Given the description of an element on the screen output the (x, y) to click on. 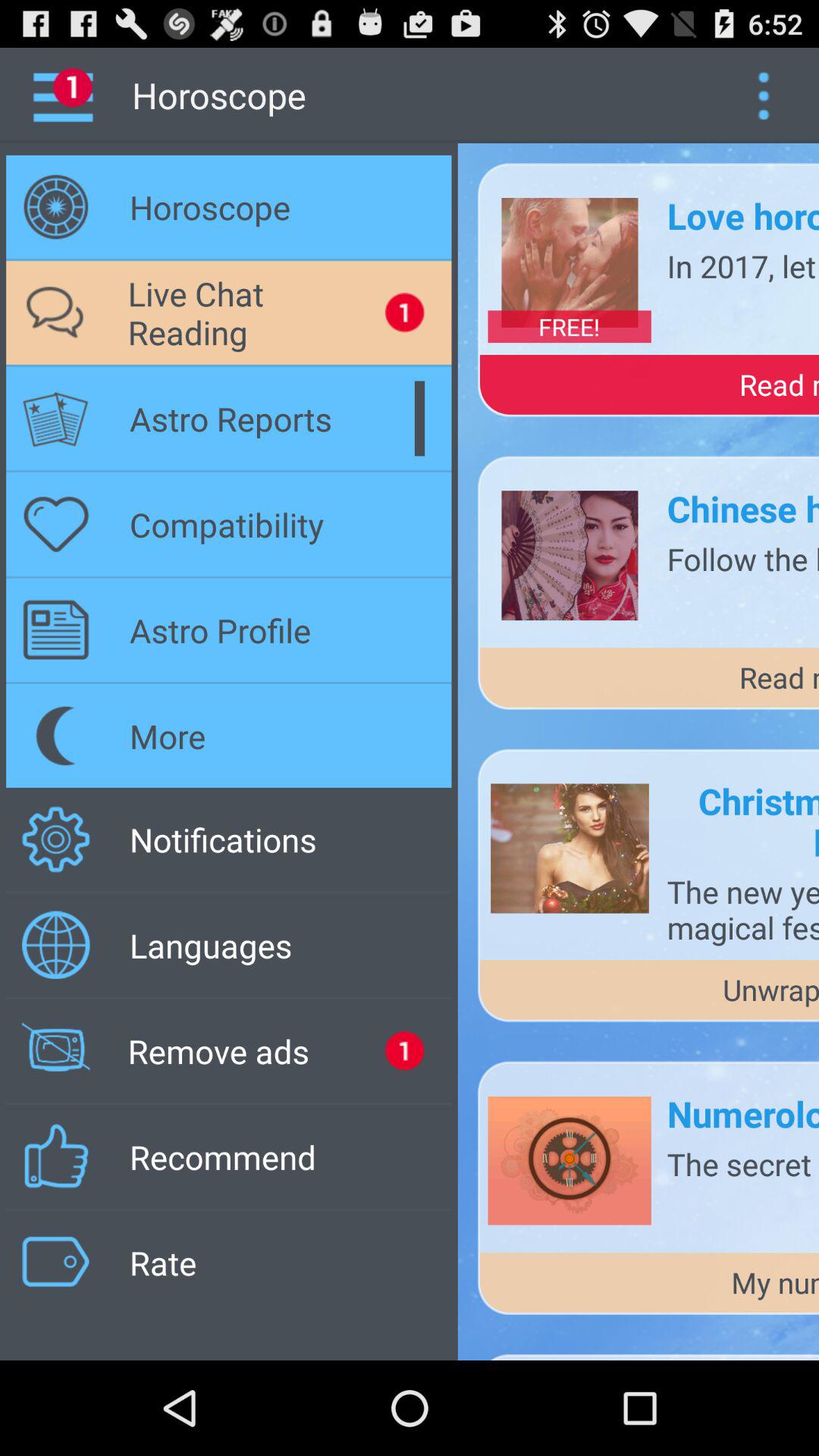
select the chinese horoscope 2017 app (743, 508)
